Given the description of an element on the screen output the (x, y) to click on. 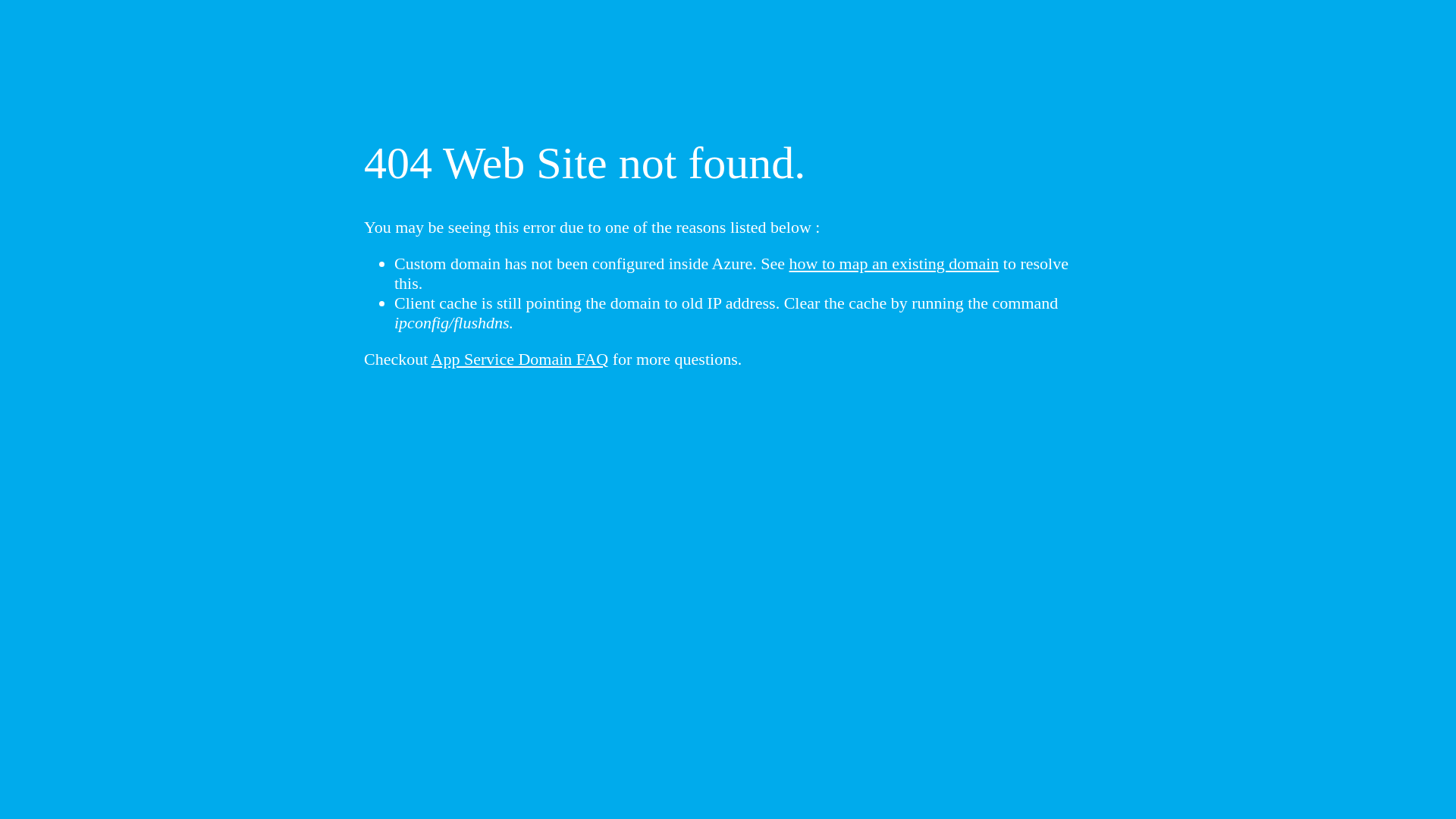
App Service Domain FAQ Element type: text (519, 358)
how to map an existing domain Element type: text (894, 263)
